Given the description of an element on the screen output the (x, y) to click on. 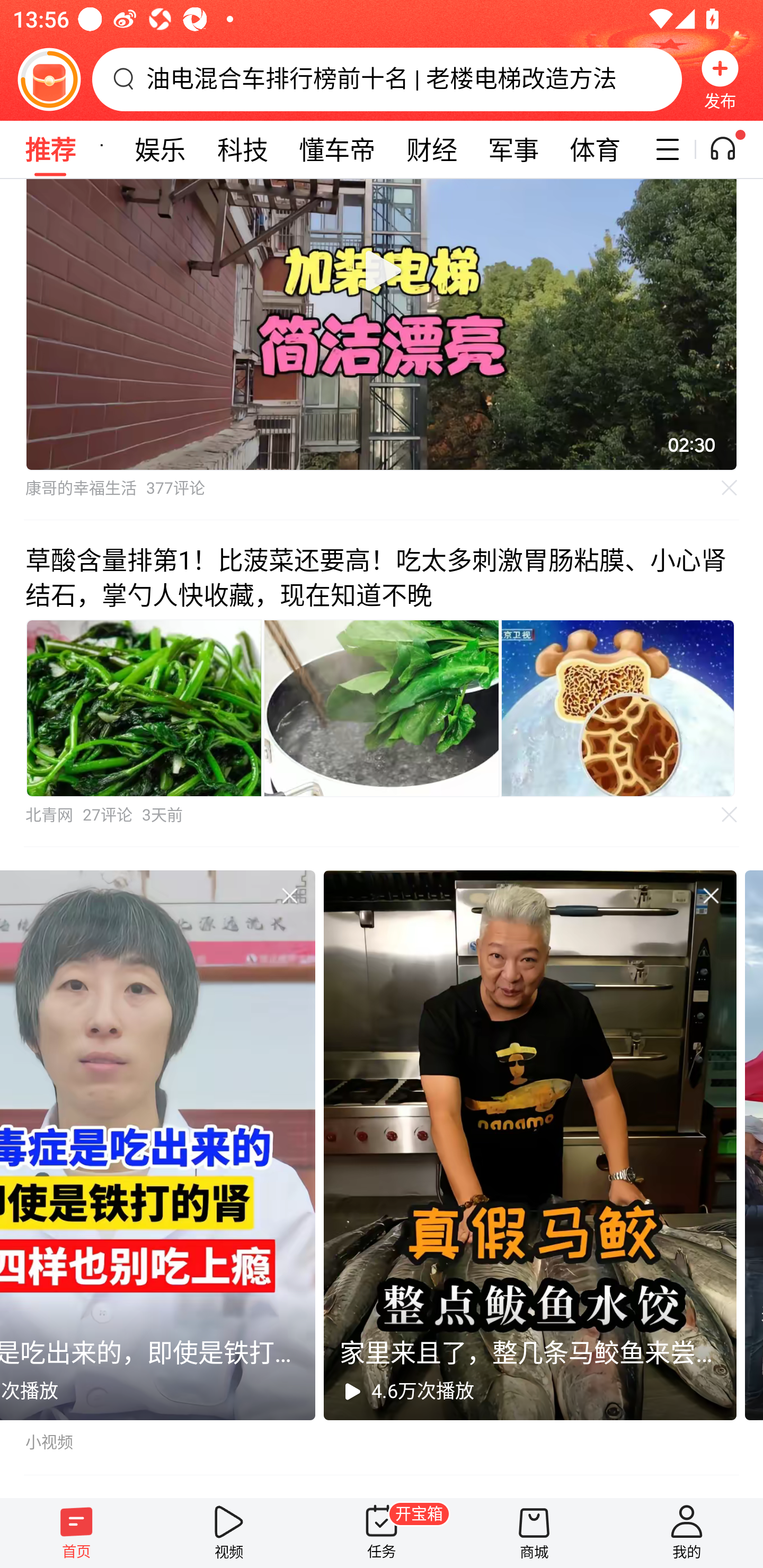
阅读赚金币 (48, 79)
油电混合车排行榜前十名 | 老楼电梯改造方法 搜索框，油电混合车排行榜前十名 | 老楼电梯改造方法 (387, 79)
发布 发布，按钮 (720, 78)
推荐 (49, 149)
娱乐 (160, 149)
科技 (242, 149)
懂车帝 (336, 149)
财经 (431, 149)
军事 (513, 149)
体育 (594, 149)
听一听开关 (732, 149)
播放视频 视频播放器，双击屏幕打开播放控制 (381, 324)
播放视频 (381, 270)
不感兴趣 (729, 487)
内容图片 (143, 708)
内容图片 (381, 708)
内容图片 (617, 708)
不感兴趣 (729, 815)
不感兴趣 (289, 894)
不感兴趣 (711, 894)
首页 (76, 1532)
视频 (228, 1532)
任务 开宝箱 (381, 1532)
商城 (533, 1532)
我的 (686, 1532)
